Given the description of an element on the screen output the (x, y) to click on. 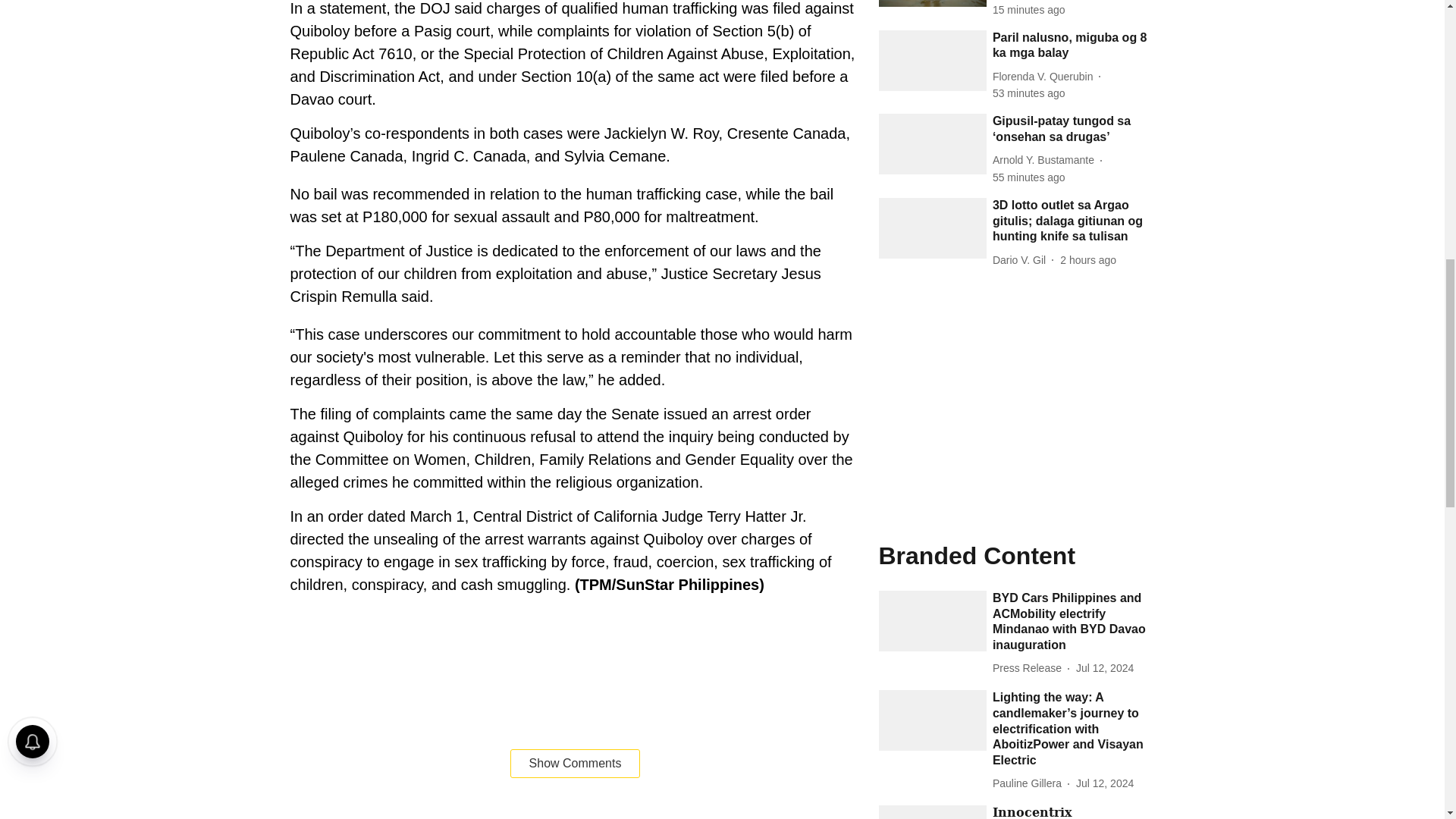
2024-07-19 14:00 (1028, 177)
2024-07-12 07:00 (1104, 783)
2024-07-12 10:22 (1104, 668)
Show Comments (575, 763)
2024-07-19 13:21 (1087, 260)
2024-07-19 14:40 (1028, 10)
2024-07-19 14:02 (1028, 93)
